Given the description of an element on the screen output the (x, y) to click on. 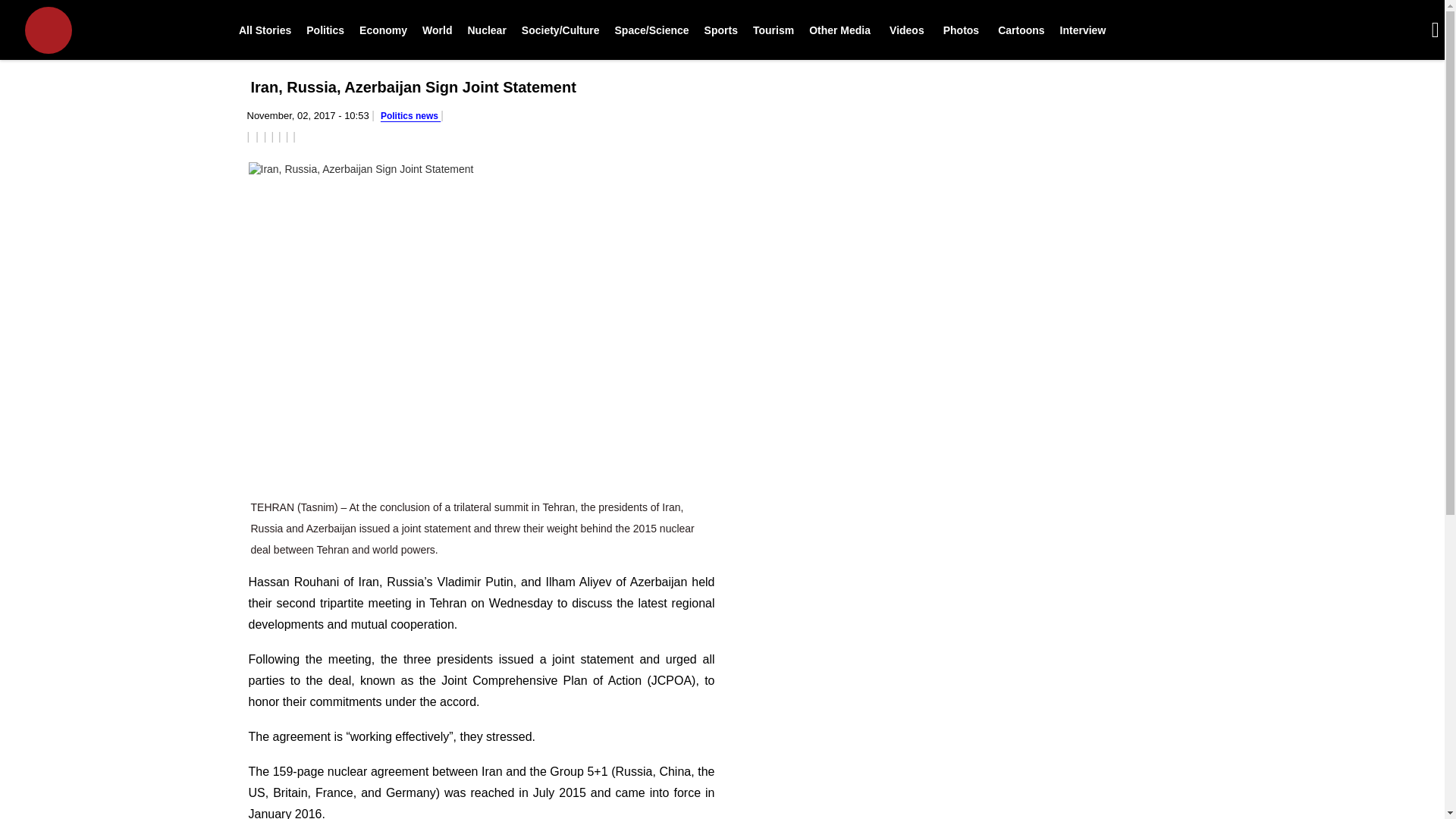
All Stories (264, 30)
Economy (383, 30)
Photos (959, 30)
Cartoons (1019, 30)
Tourism (773, 30)
Interview (1082, 30)
Other Media (839, 30)
